Given the description of an element on the screen output the (x, y) to click on. 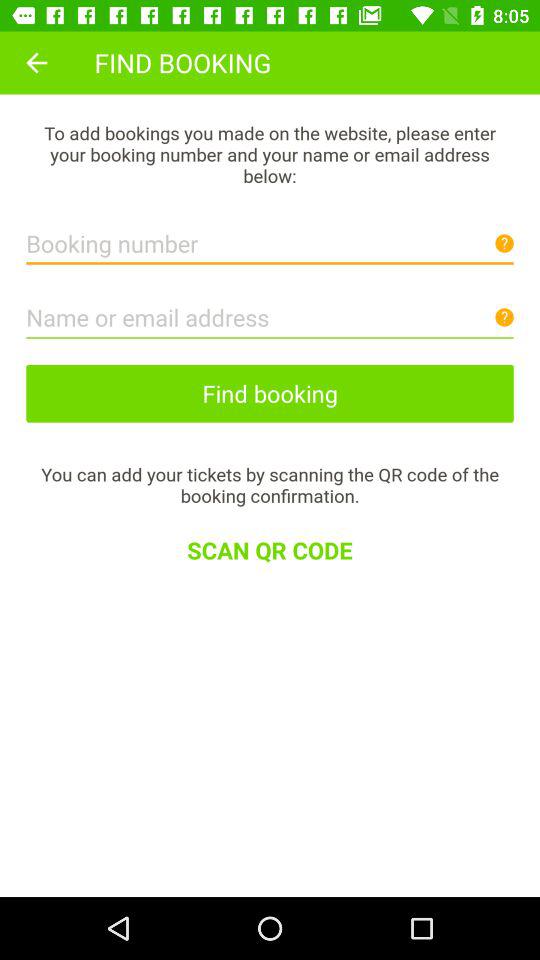
press the item above to add bookings item (36, 62)
